Given the description of an element on the screen output the (x, y) to click on. 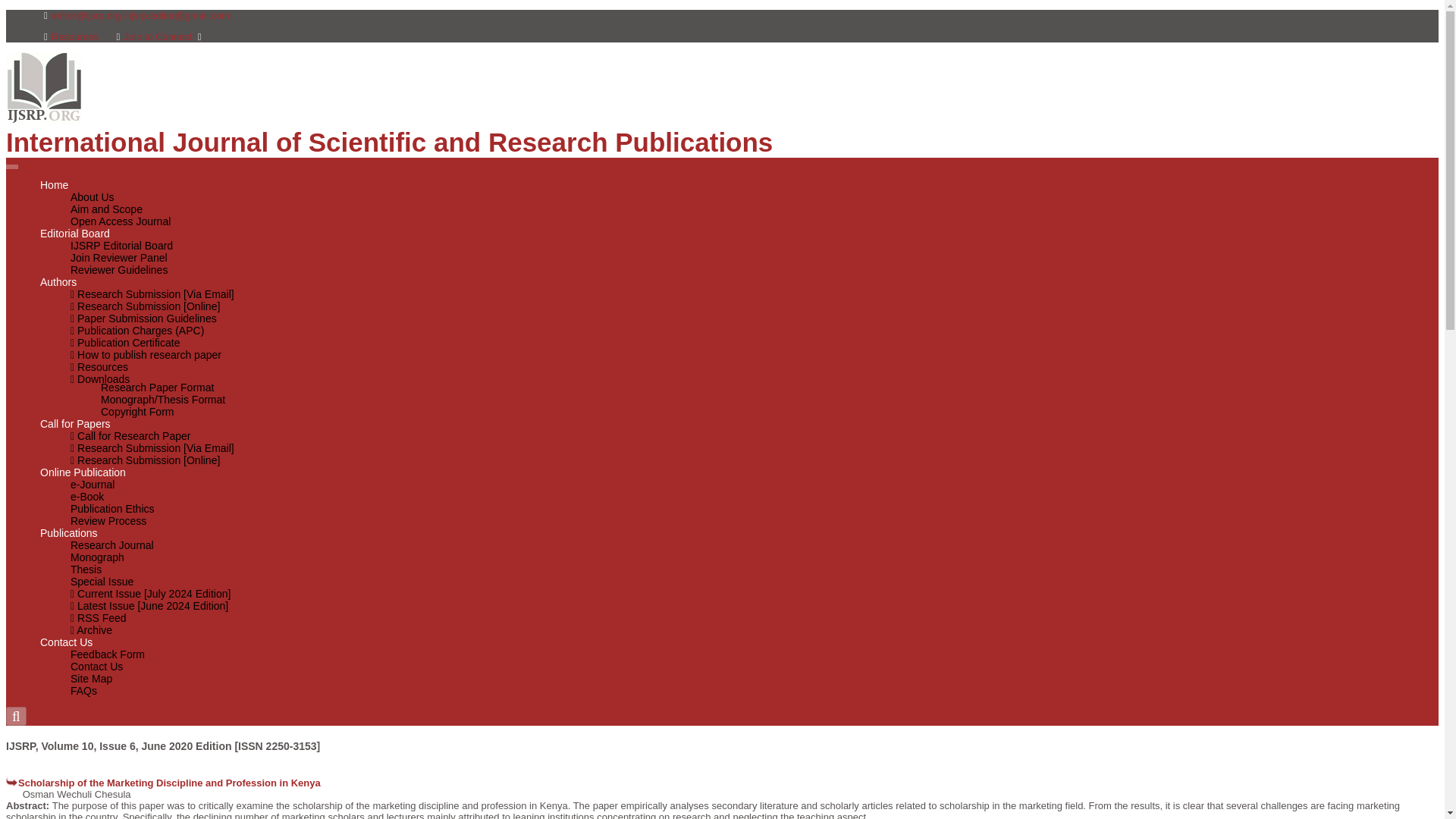
Publication Certificate (124, 342)
How to publish research paper (145, 354)
Publications (68, 532)
Monograph (96, 557)
Join to Connect: (164, 36)
Resources (71, 36)
Review Process (108, 521)
e-Book (86, 496)
Research Journal (111, 544)
Authors (58, 282)
About Us (92, 196)
Call for Papers (75, 423)
Special Issue (101, 581)
Join Reviewer Panel (118, 257)
Aim and Scope (105, 209)
